Given the description of an element on the screen output the (x, y) to click on. 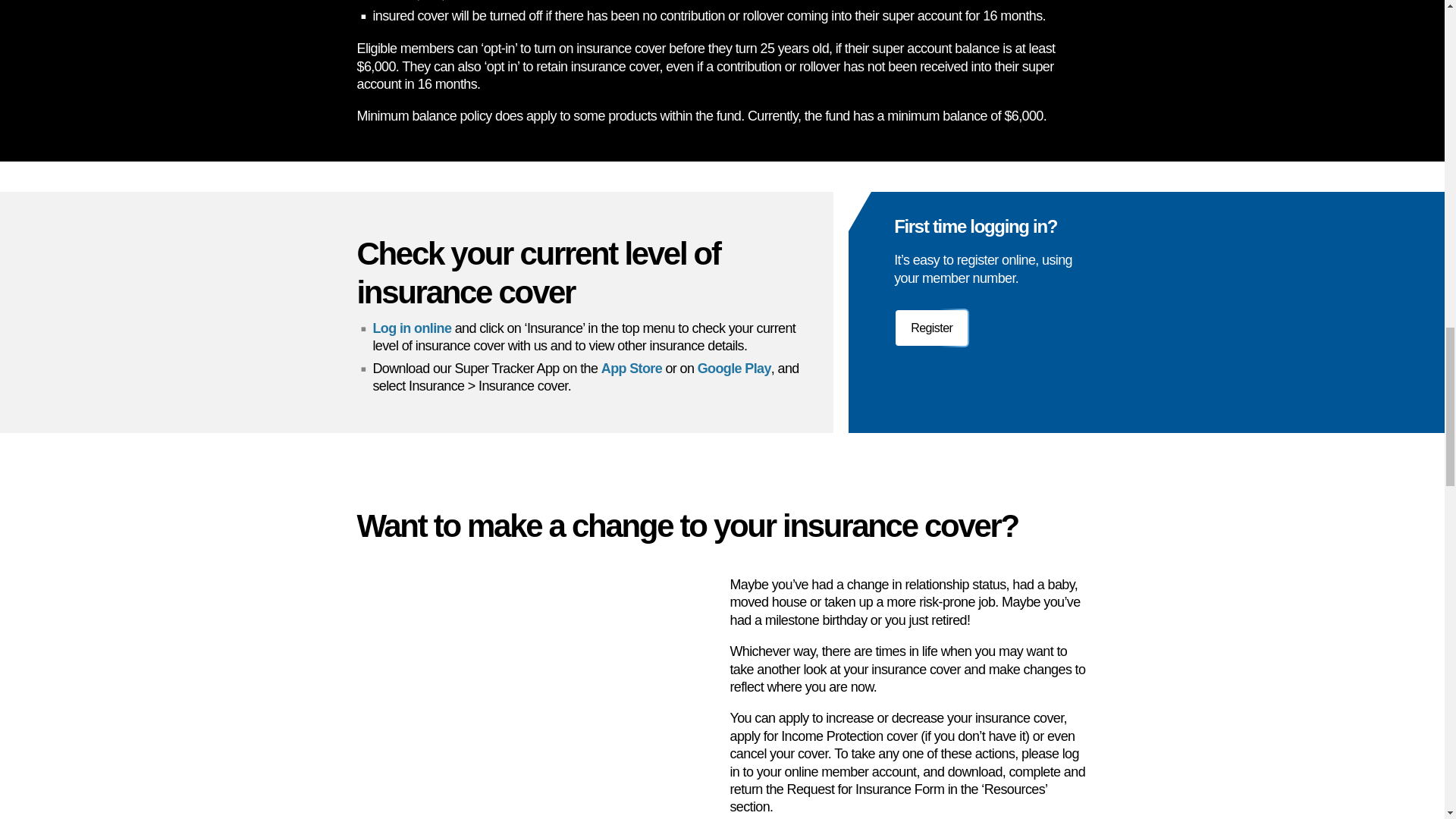
Google Play (734, 368)
Log in online (411, 328)
Register (931, 327)
App Store (631, 368)
